Given the description of an element on the screen output the (x, y) to click on. 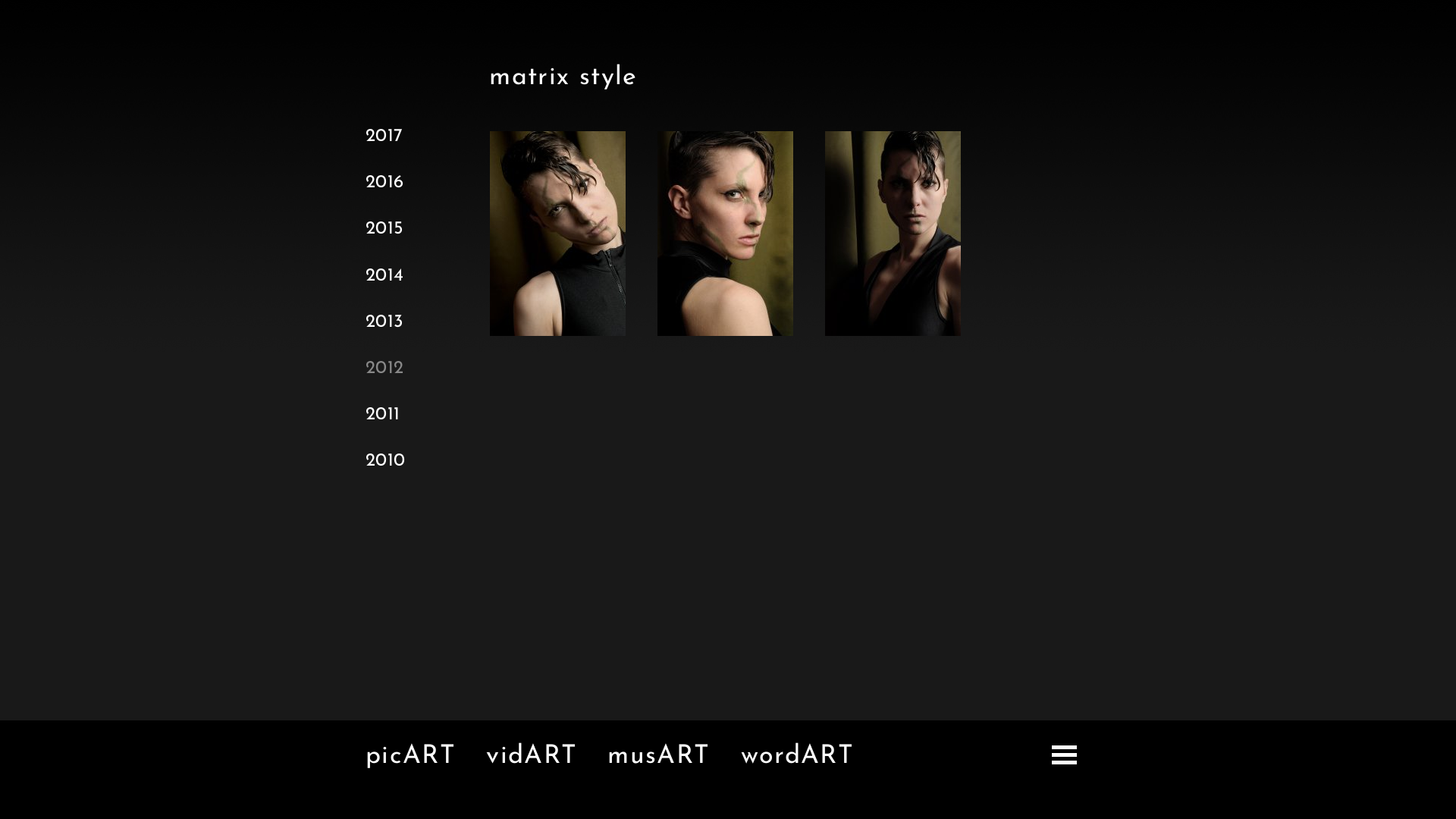
2013 Element type: text (384, 322)
wordART Element type: text (797, 756)
2011 Element type: text (382, 414)
musART Element type: text (658, 756)
2015 Element type: text (384, 228)
picART Element type: text (410, 756)
vidART Element type: text (531, 756)
2016 Element type: text (384, 182)
2014 Element type: text (384, 275)
2017 Element type: text (384, 136)
2010 Element type: text (385, 460)
2012 Element type: text (384, 368)
